Given the description of an element on the screen output the (x, y) to click on. 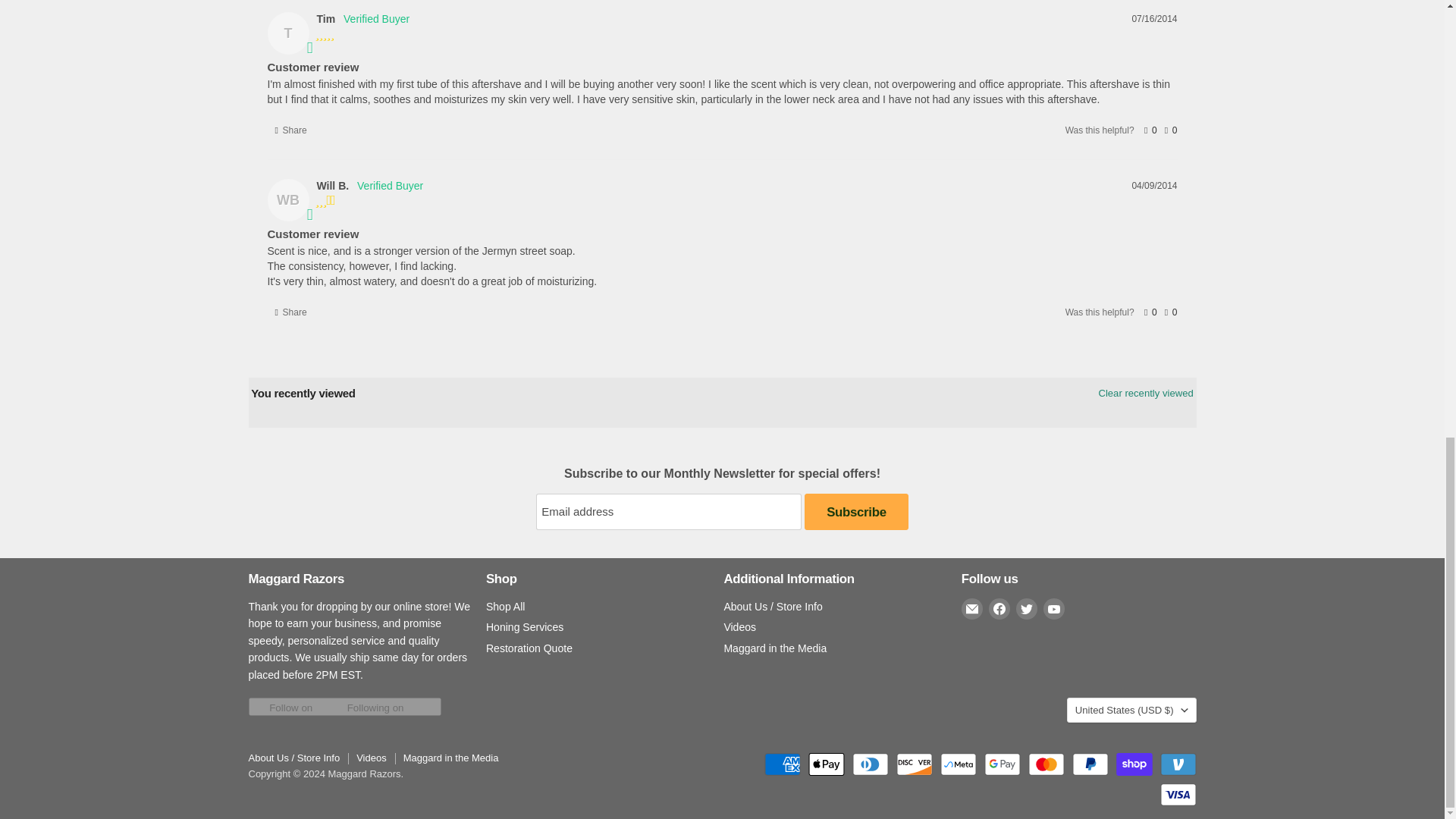
Diners Club (869, 763)
Facebook (999, 608)
Twitter (1026, 608)
Discover (914, 763)
Subscribe (856, 511)
Meta Pay (958, 763)
YouTube (1053, 608)
Email (971, 608)
Google Pay (1002, 763)
Apple Pay (826, 763)
